Given the description of an element on the screen output the (x, y) to click on. 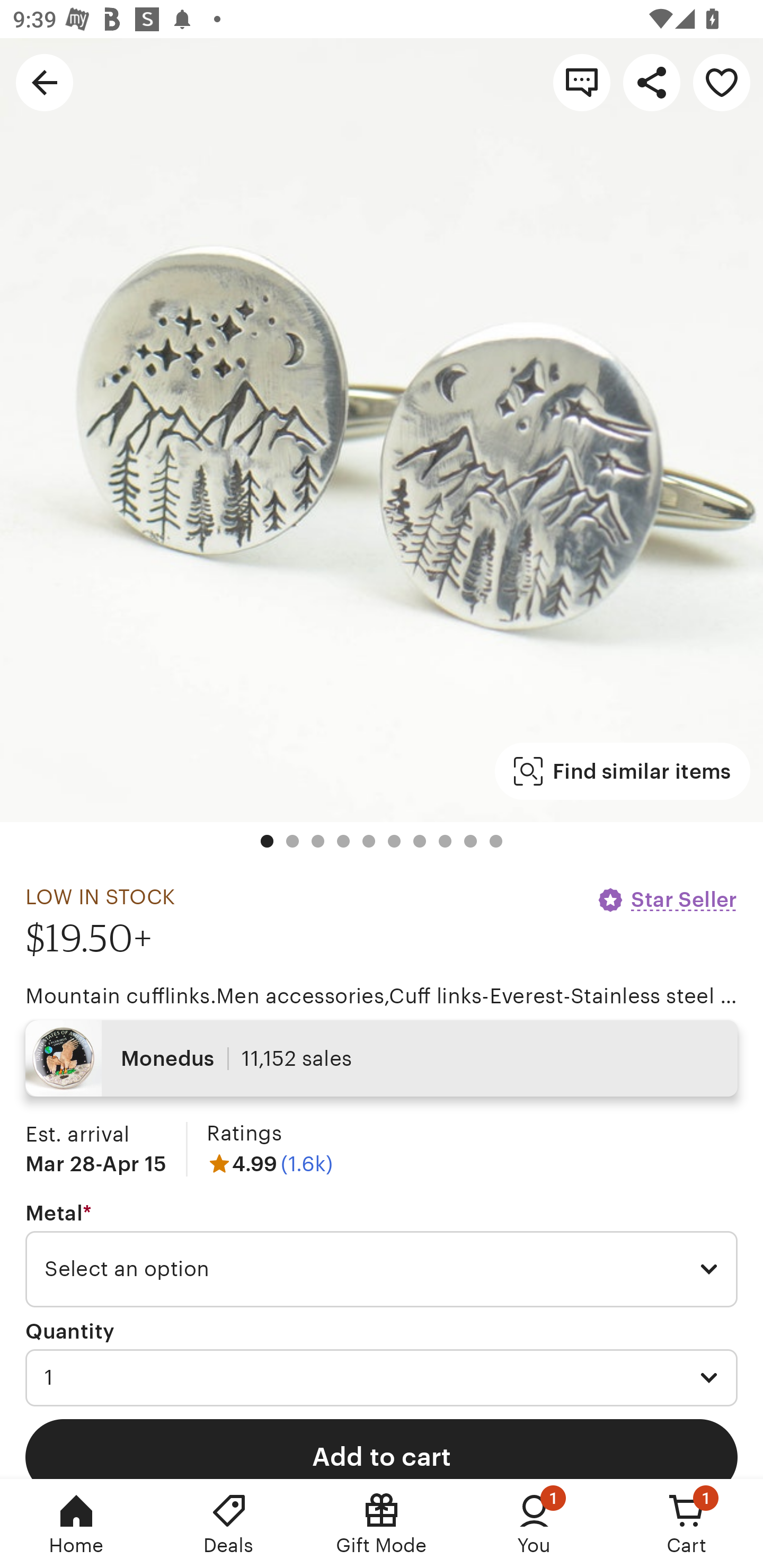
Navigate up (44, 81)
Contact shop (581, 81)
Share (651, 81)
Find similar items (622, 771)
Star Seller (666, 899)
Monedus 11,152 sales (381, 1058)
Ratings (243, 1133)
4.99 (1.6k) (269, 1163)
Metal * Required Select an option (381, 1254)
Select an option (381, 1268)
Quantity (70, 1331)
1 (381, 1377)
Add to cart (381, 1448)
Deals (228, 1523)
Gift Mode (381, 1523)
You, 1 new notification You (533, 1523)
Cart, 1 new notification Cart (686, 1523)
